Given the description of an element on the screen output the (x, y) to click on. 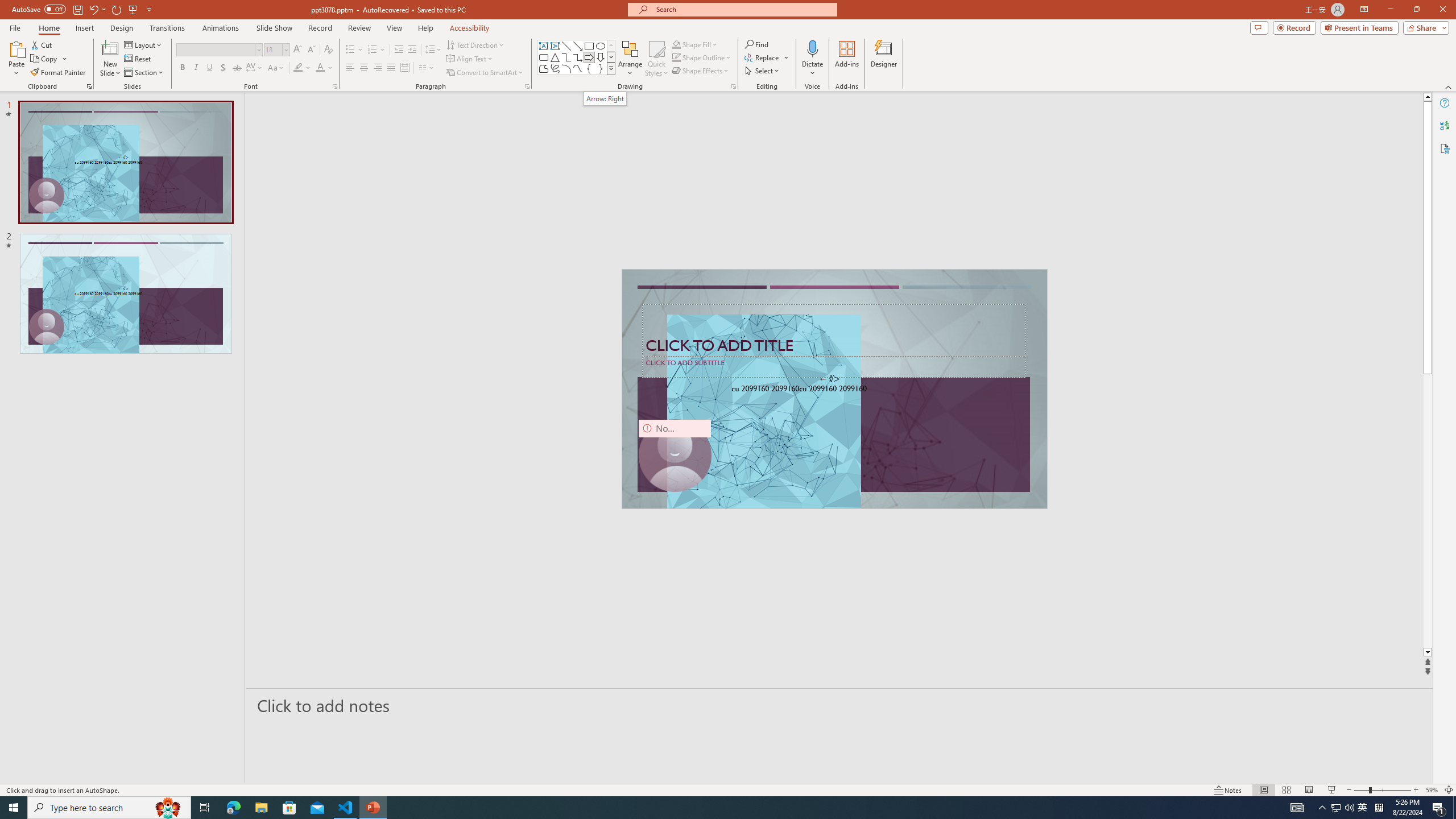
Character Spacing (254, 67)
Shadow (223, 67)
Left Brace (589, 68)
Shape Effects (700, 69)
Text Highlight Color Yellow (297, 67)
Slide Notes (839, 705)
Align Right (377, 67)
